Given the description of an element on the screen output the (x, y) to click on. 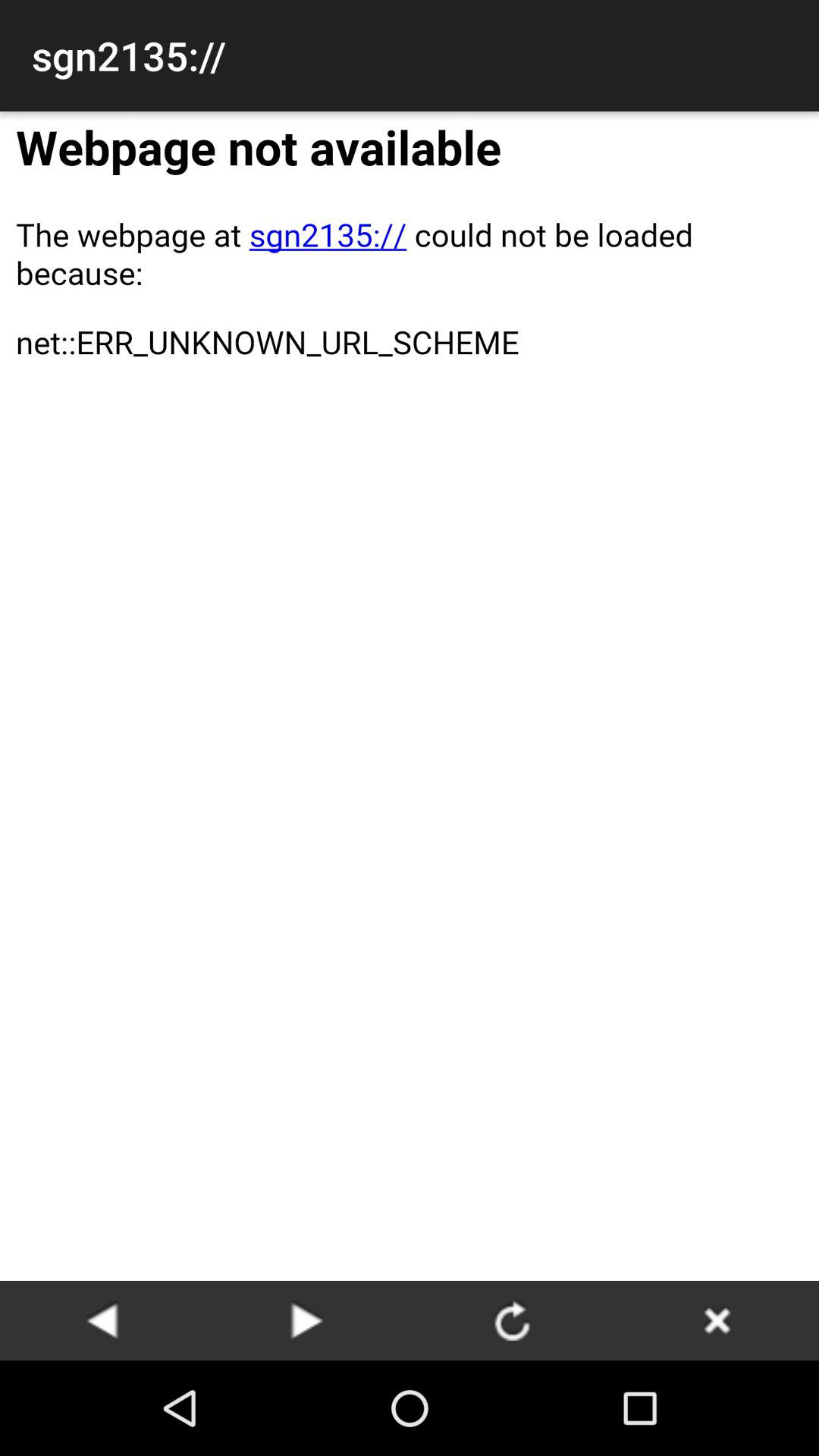
skip to the next (306, 1320)
